Given the description of an element on the screen output the (x, y) to click on. 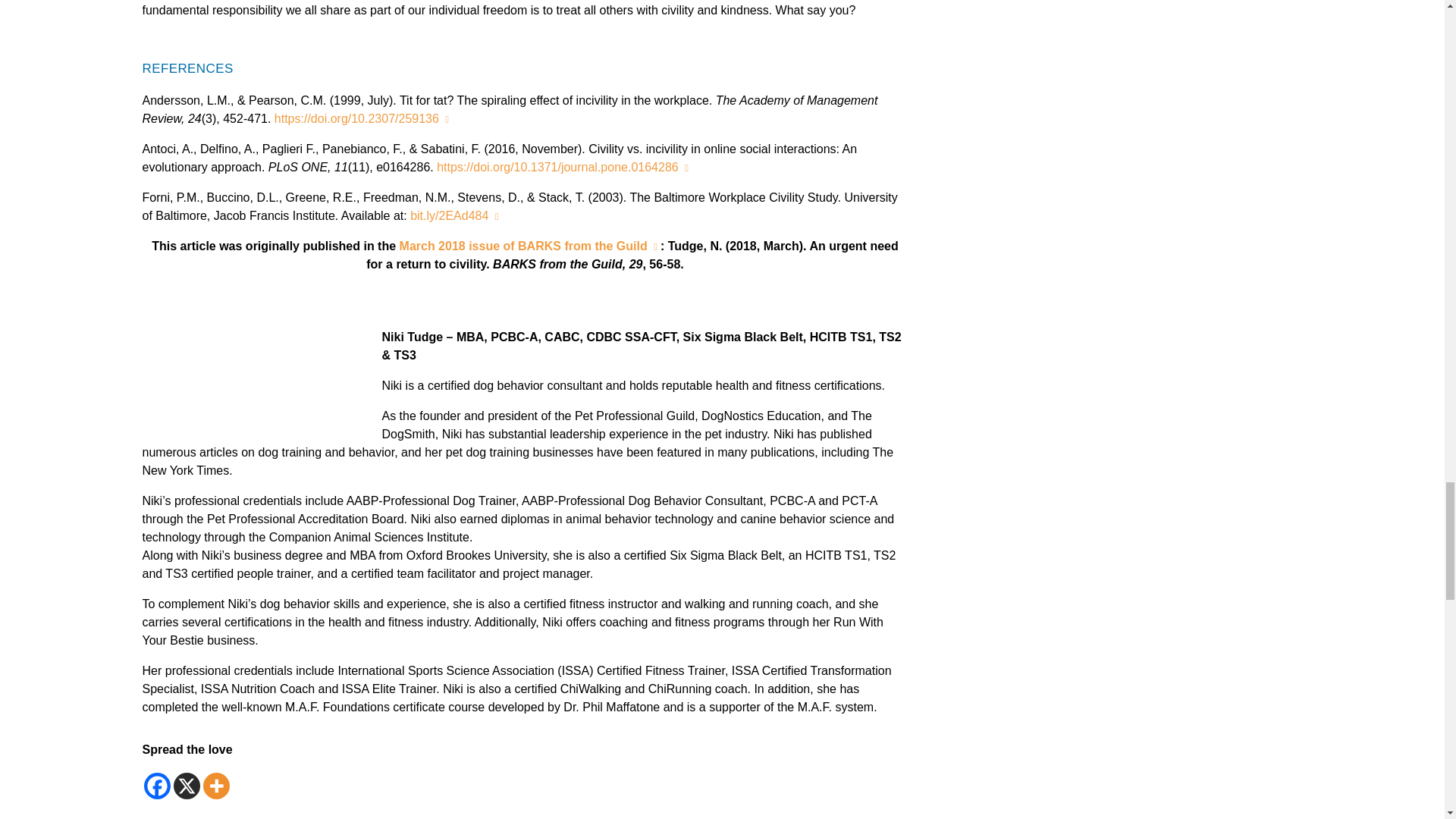
X (186, 786)
More (216, 786)
Facebook (157, 786)
